Given the description of an element on the screen output the (x, y) to click on. 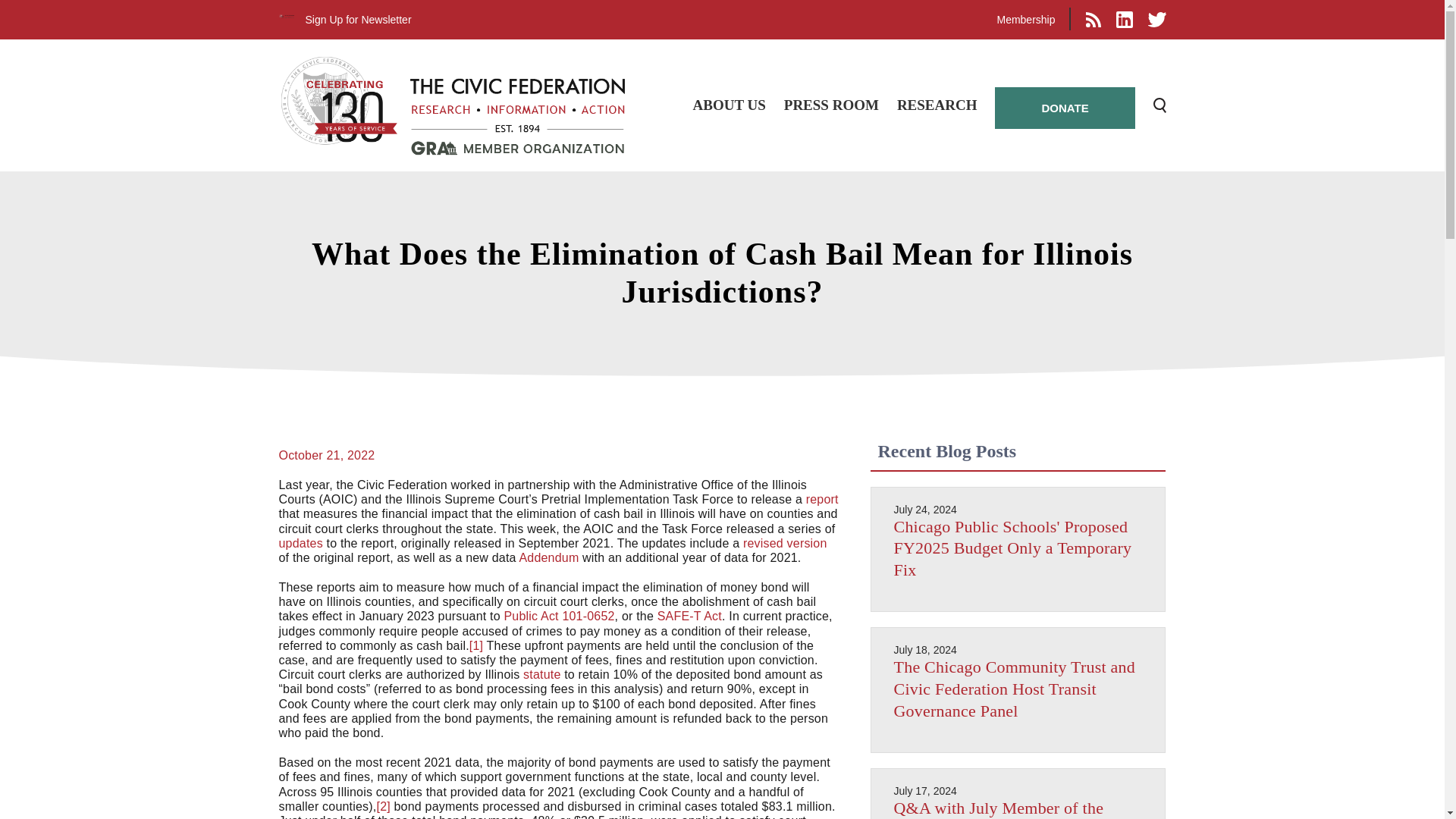
Sign Up for Newsletter (357, 19)
revised version (784, 543)
Membership (1024, 19)
Addendum (548, 557)
statute (541, 674)
report (822, 499)
updates (301, 543)
DONATE (1064, 107)
SAFE-T Act (690, 615)
Public Act 101-0652 (558, 615)
